Given the description of an element on the screen output the (x, y) to click on. 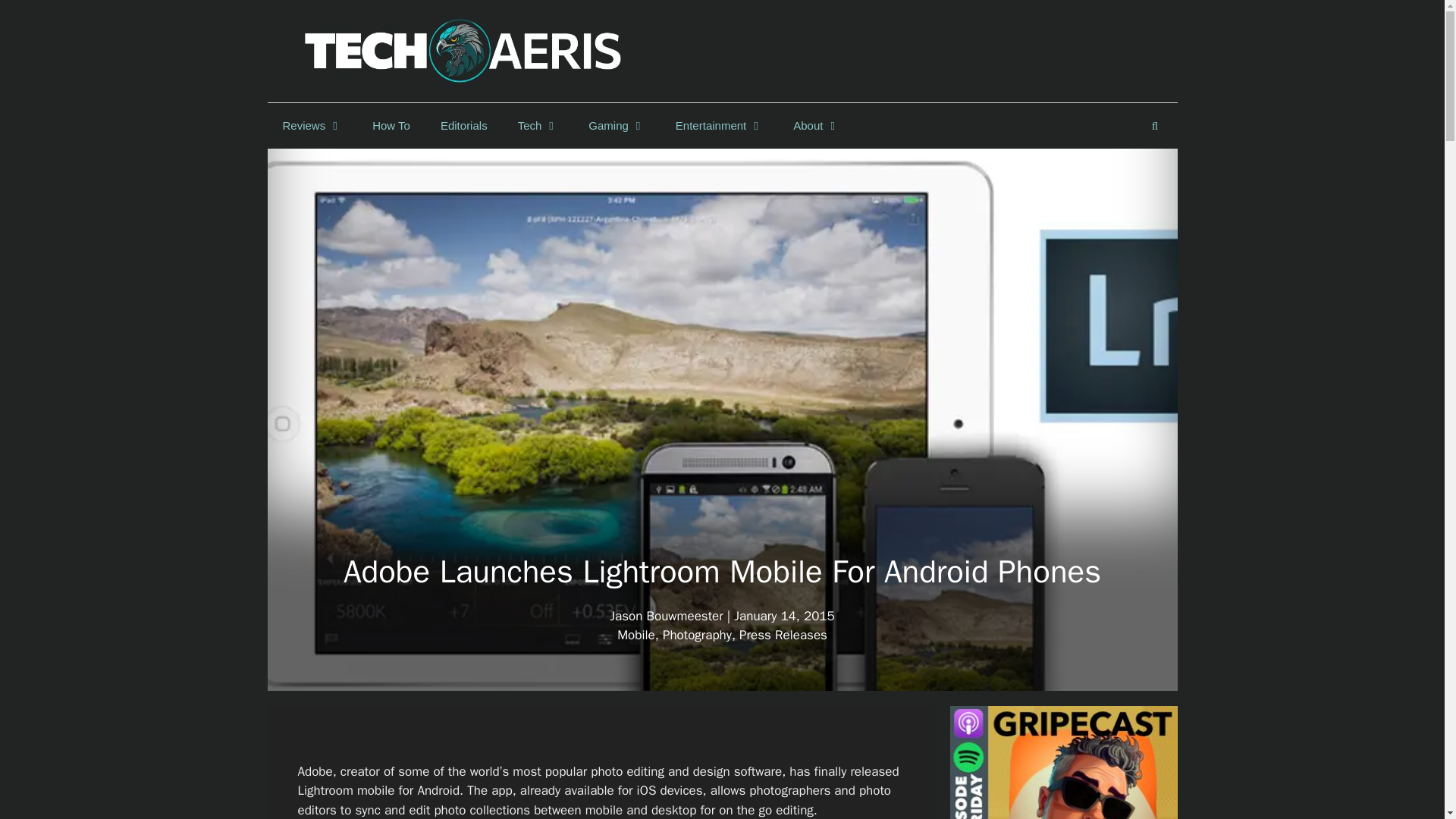
View all posts by Jason Bouwmeester (666, 616)
How To (390, 125)
Gaming (617, 125)
Tech (537, 125)
Editorials (463, 125)
Reviews (311, 125)
Entertainment (719, 125)
